Given the description of an element on the screen output the (x, y) to click on. 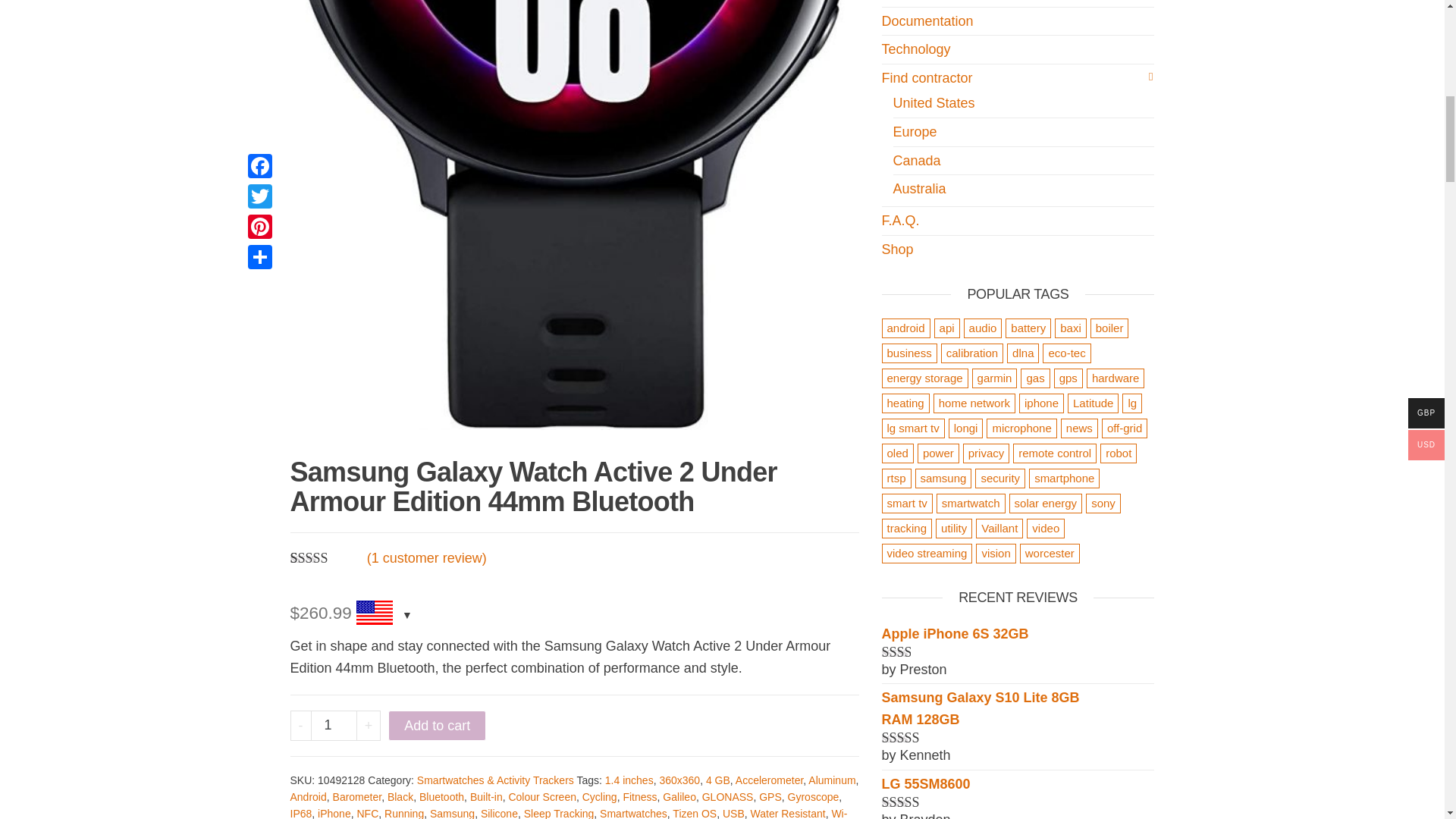
Built-in (486, 797)
Bluetooth (441, 797)
360x360 (679, 779)
Accelerometer (769, 779)
4 GB (718, 779)
1 (333, 725)
Fitness (639, 797)
Gyroscope (813, 797)
Please select your currency (382, 614)
Barometer (357, 797)
